Given the description of an element on the screen output the (x, y) to click on. 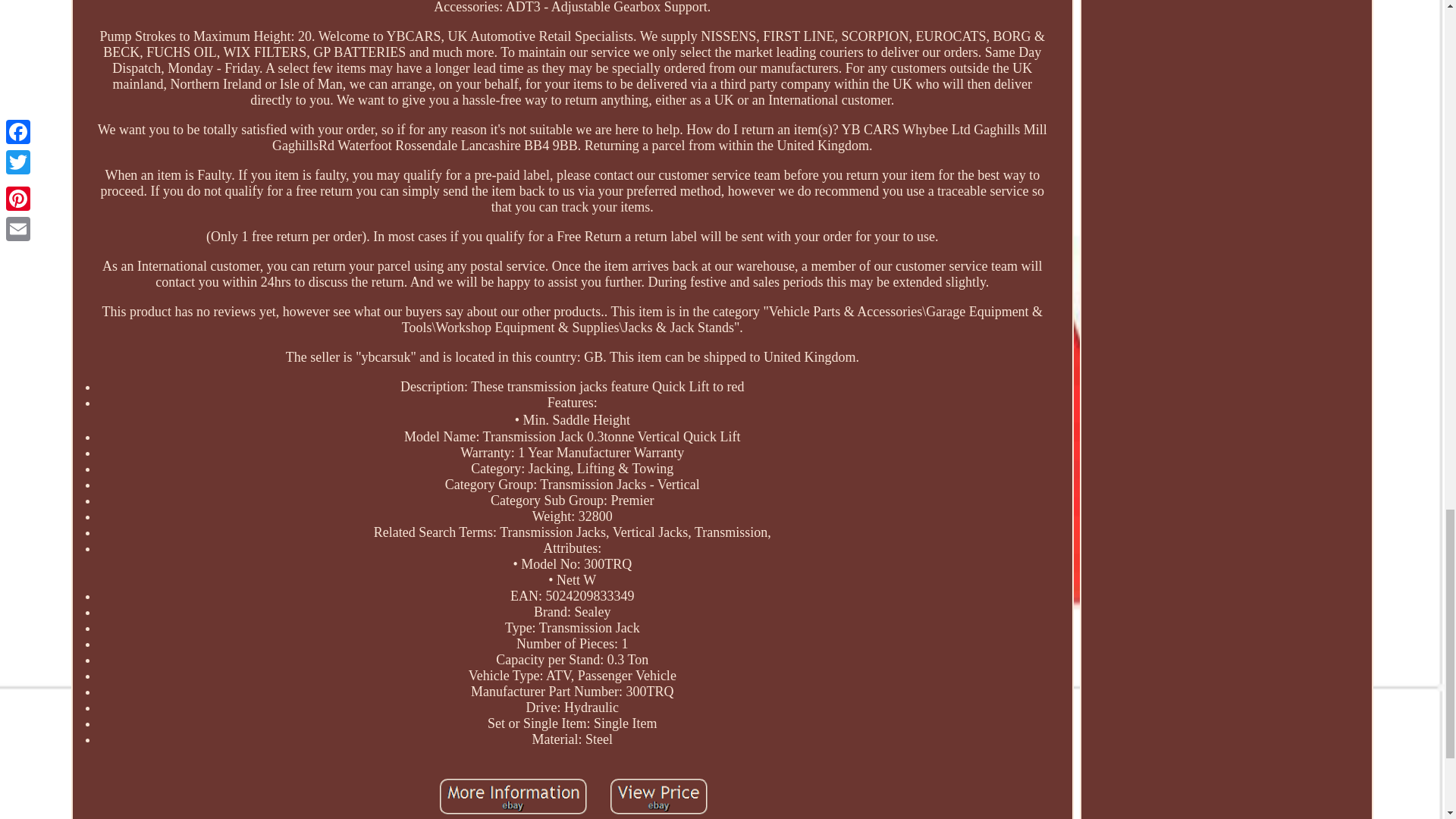
300trq Sealey Transmission Jack 0.3tonne Vertical Quick Lift (512, 798)
300trq Sealey Transmission Jack 0.3tonne Vertical Quick Lift (659, 798)
300TRQ Sealey Transmission Jack 0.3tonne Vertical Quick Lift (512, 796)
